Given the description of an element on the screen output the (x, y) to click on. 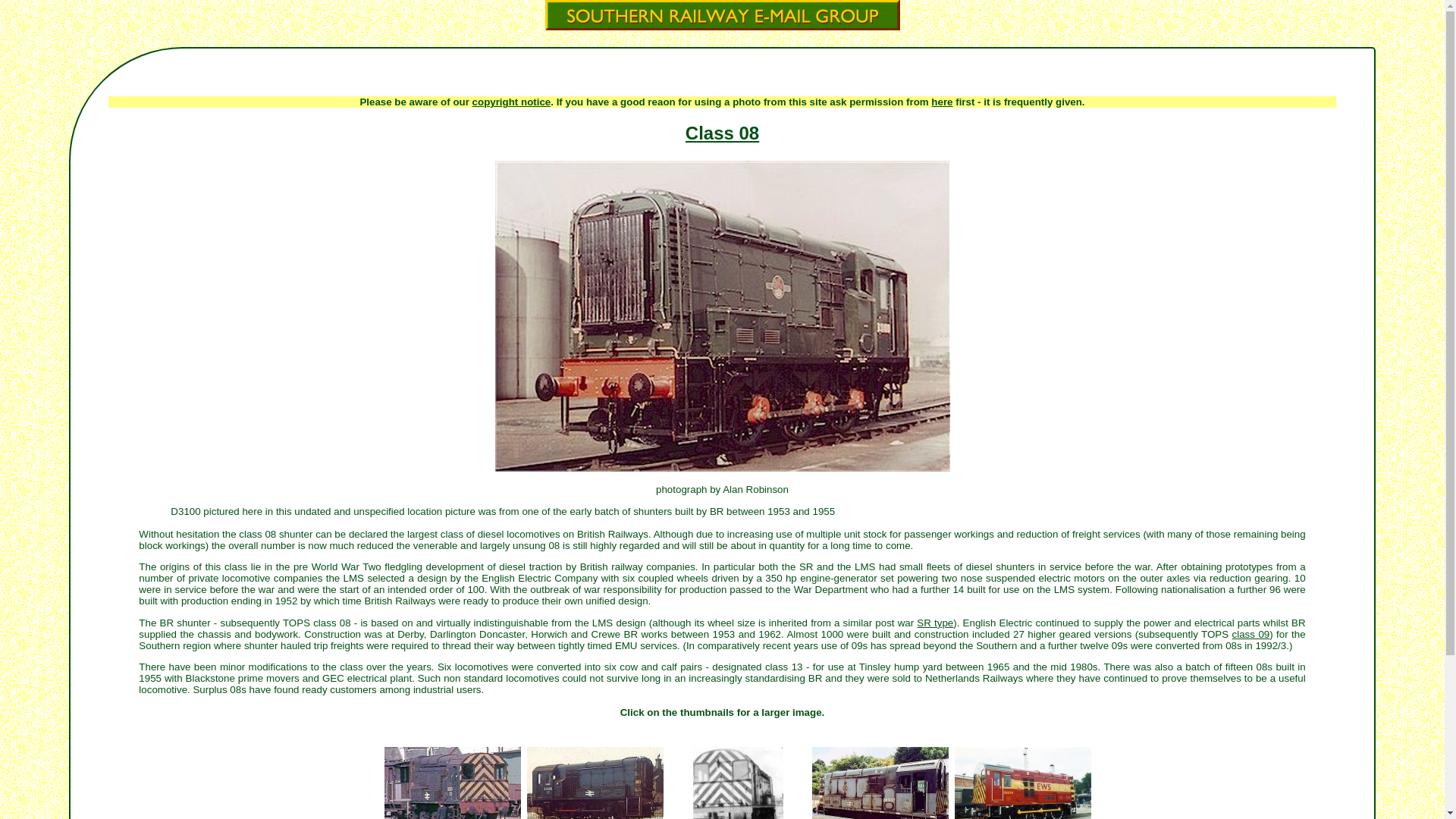
copyright notice (511, 101)
class 09 (1250, 633)
Click to enlarge (451, 782)
here (941, 101)
Click to enlarge (593, 782)
SR type (935, 622)
Click to enlarge (1022, 782)
Click to enlarge (736, 782)
Click to enlarge (879, 782)
